Given the description of an element on the screen output the (x, y) to click on. 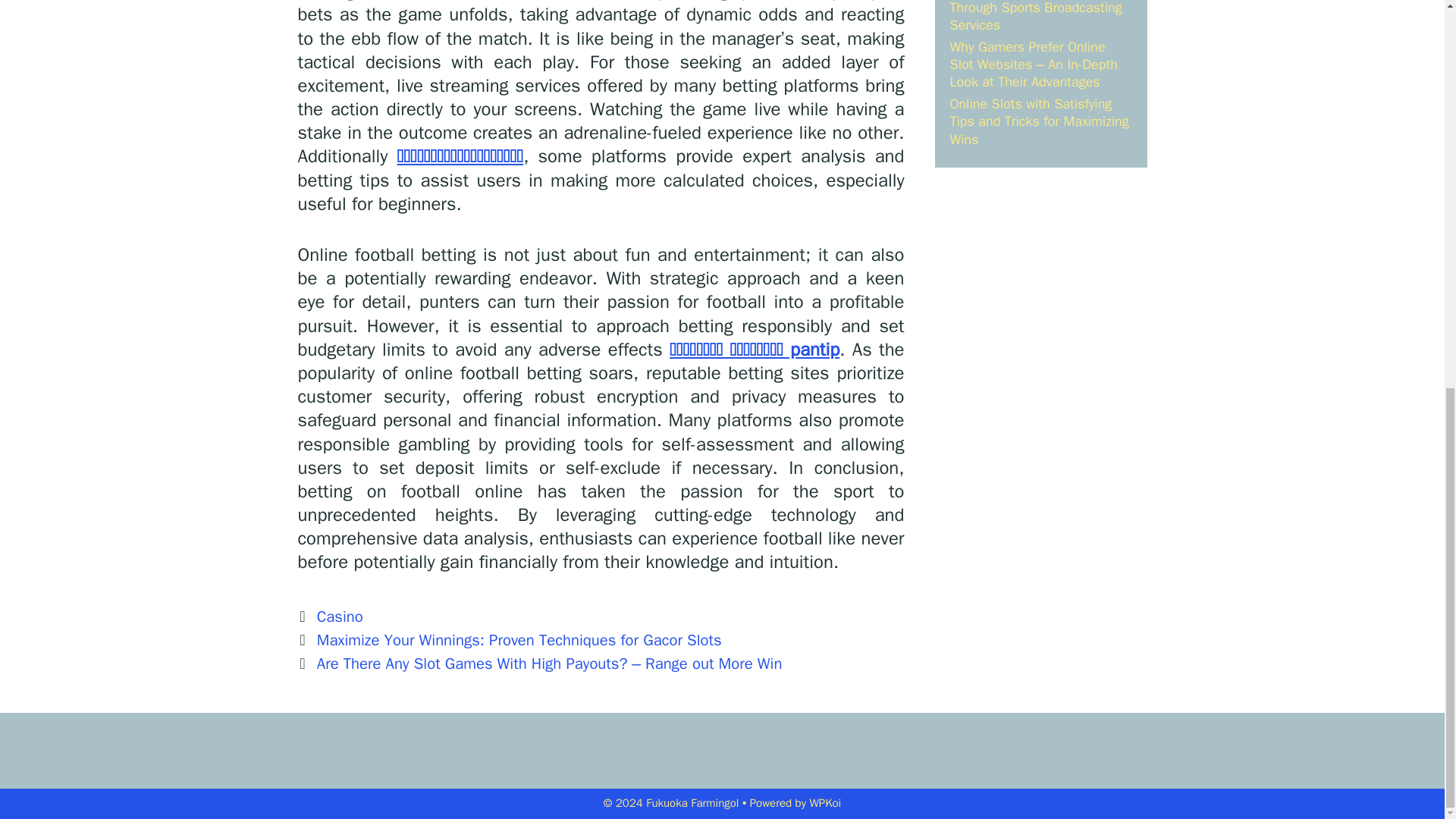
Maximize Your Winnings: Proven Techniques for Gacor Slots (519, 639)
Next (539, 663)
Casino (339, 616)
Previous (508, 639)
WPKoi (825, 802)
